Given the description of an element on the screen output the (x, y) to click on. 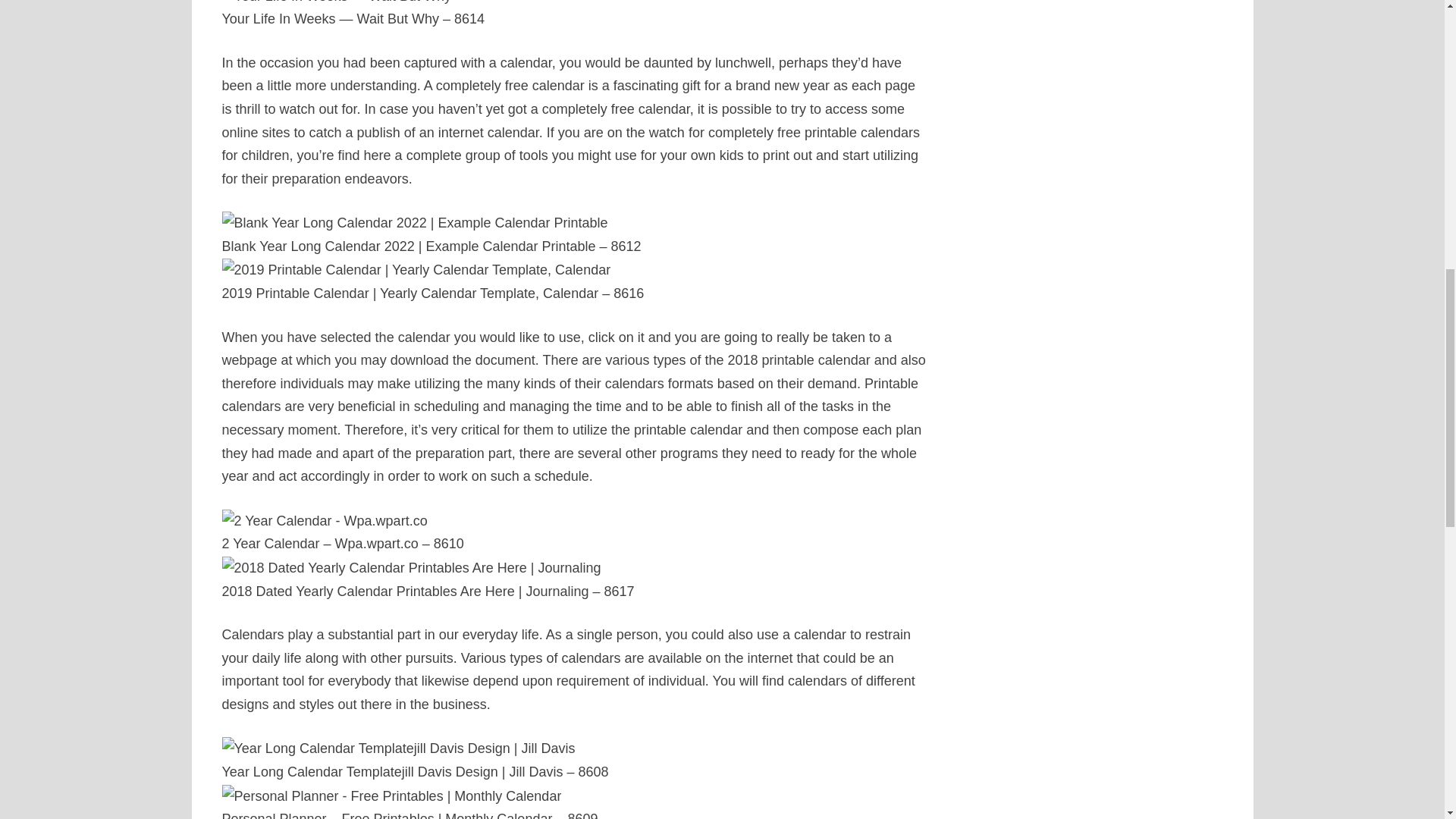
2 Year Calendar - Wpa.wpart.co (323, 521)
